Given the description of an element on the screen output the (x, y) to click on. 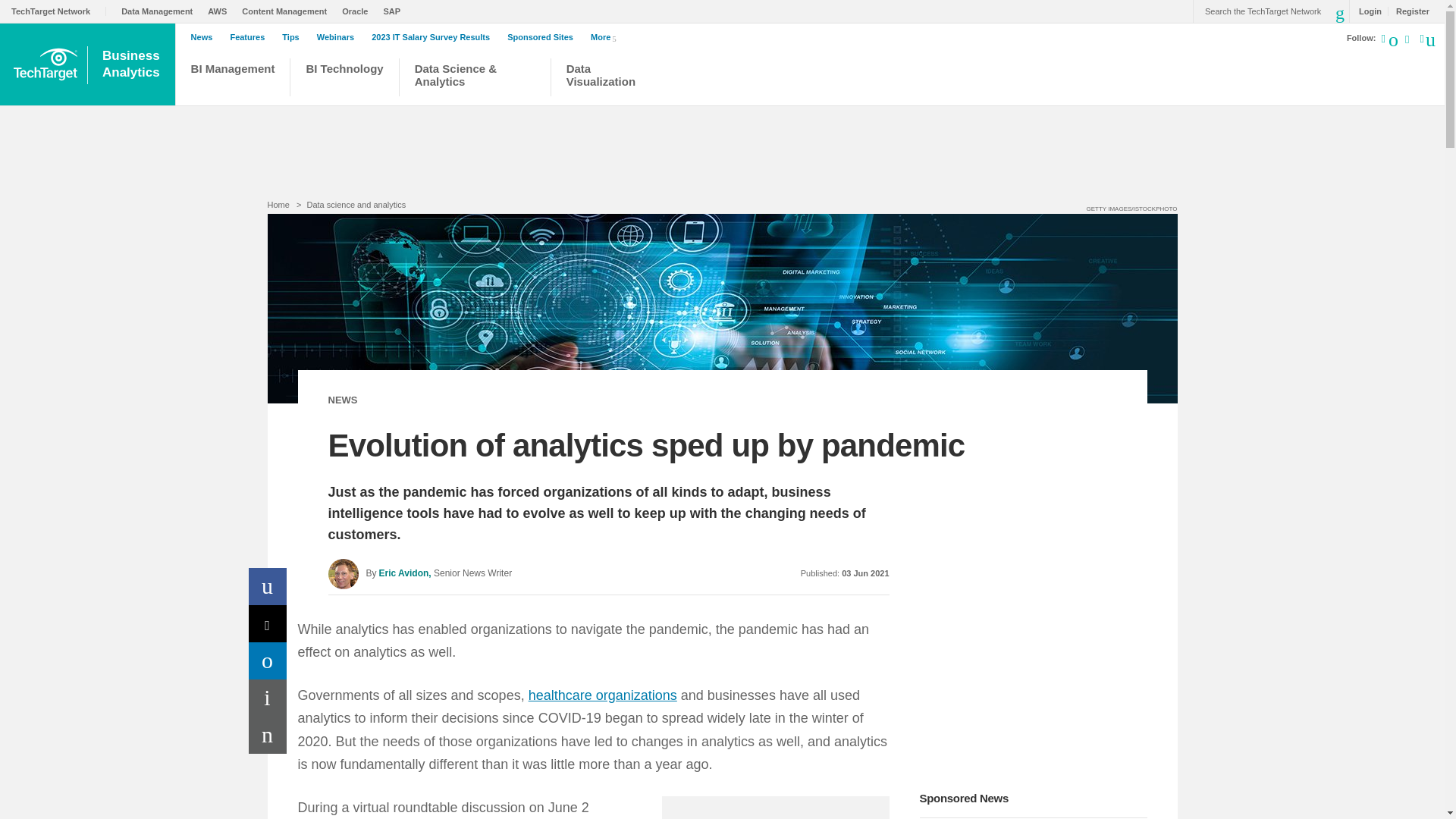
News (205, 36)
TechTarget Network (58, 10)
2023 IT Salary Survey Results (434, 36)
Data Management (160, 10)
Oracle (358, 10)
Sponsored Sites (543, 36)
Share on X (267, 623)
Home (277, 204)
Share on LinkedIn (267, 660)
AWS (221, 10)
